Given the description of an element on the screen output the (x, y) to click on. 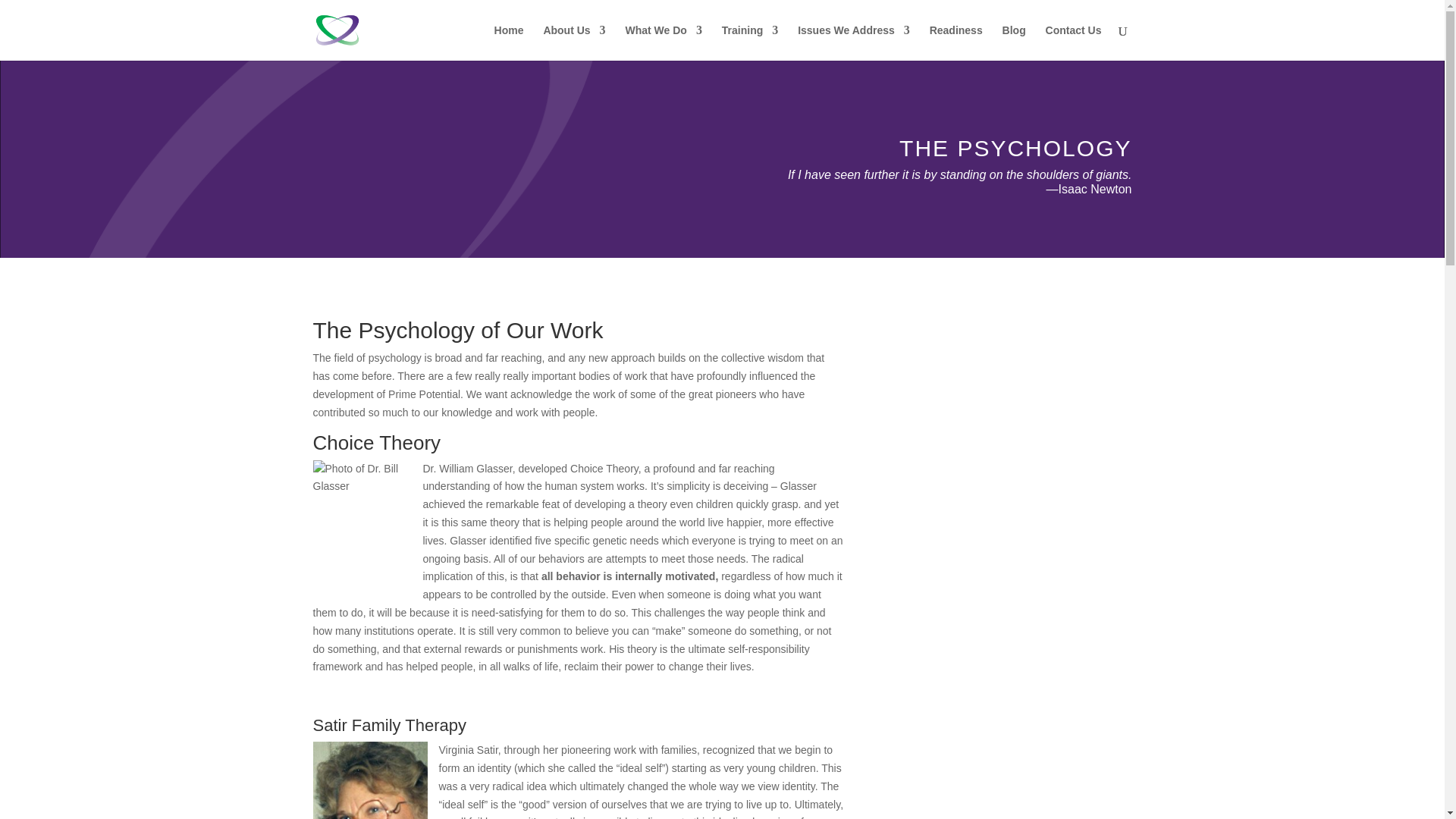
Contact Us (1073, 42)
Training (749, 42)
Readiness (956, 42)
About Us (574, 42)
Issues We Address (853, 42)
What We Do (662, 42)
